Given the description of an element on the screen output the (x, y) to click on. 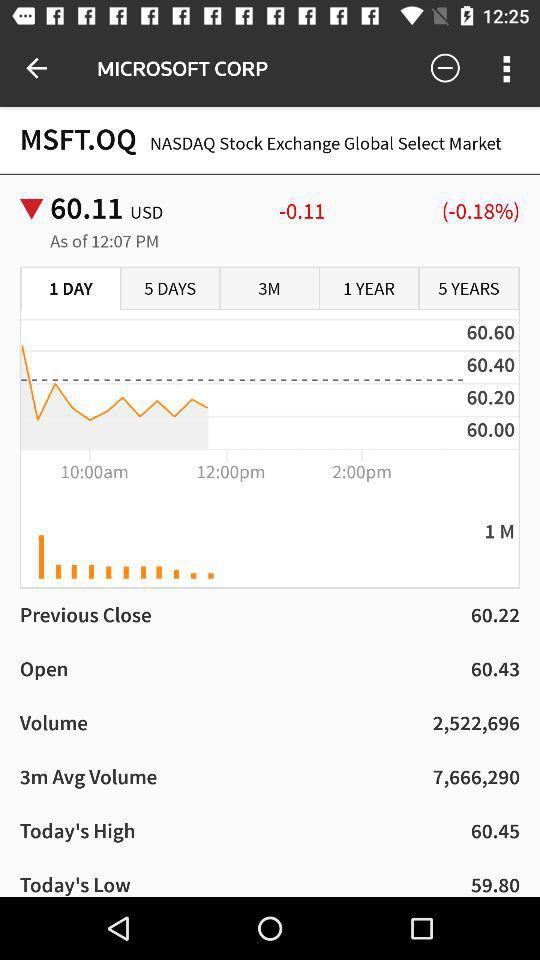
turn off item next to microsoft corp item (36, 68)
